Given the description of an element on the screen output the (x, y) to click on. 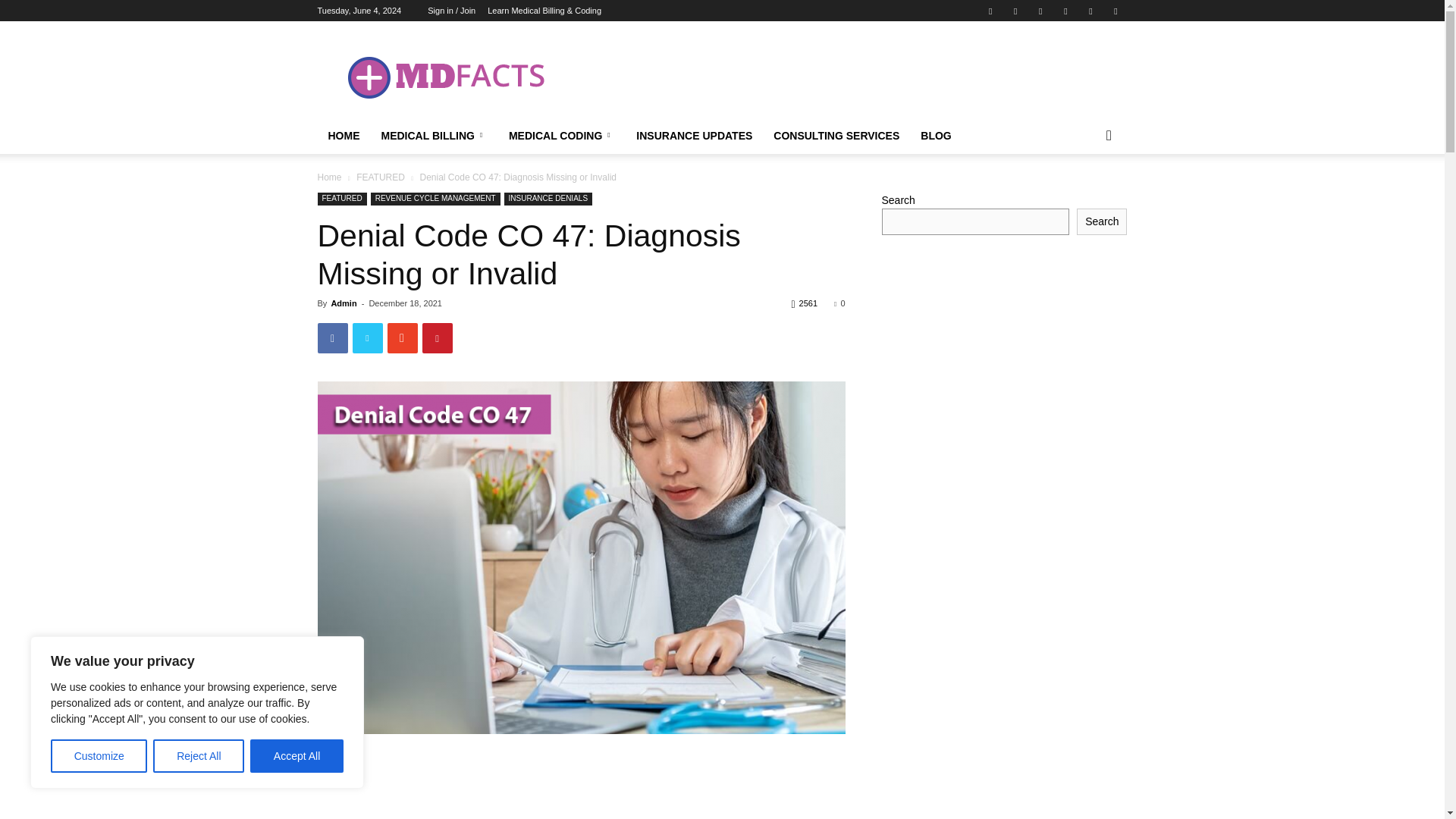
Vimeo (1090, 10)
View all posts in FEATURED (380, 176)
Youtube (1114, 10)
Reject All (198, 756)
Advertisement (850, 76)
Linkedin (1015, 10)
Customize (98, 756)
Accept All (296, 756)
Twitter (1065, 10)
Facebook (989, 10)
Skype (1040, 10)
Advertisement (580, 776)
